Given the description of an element on the screen output the (x, y) to click on. 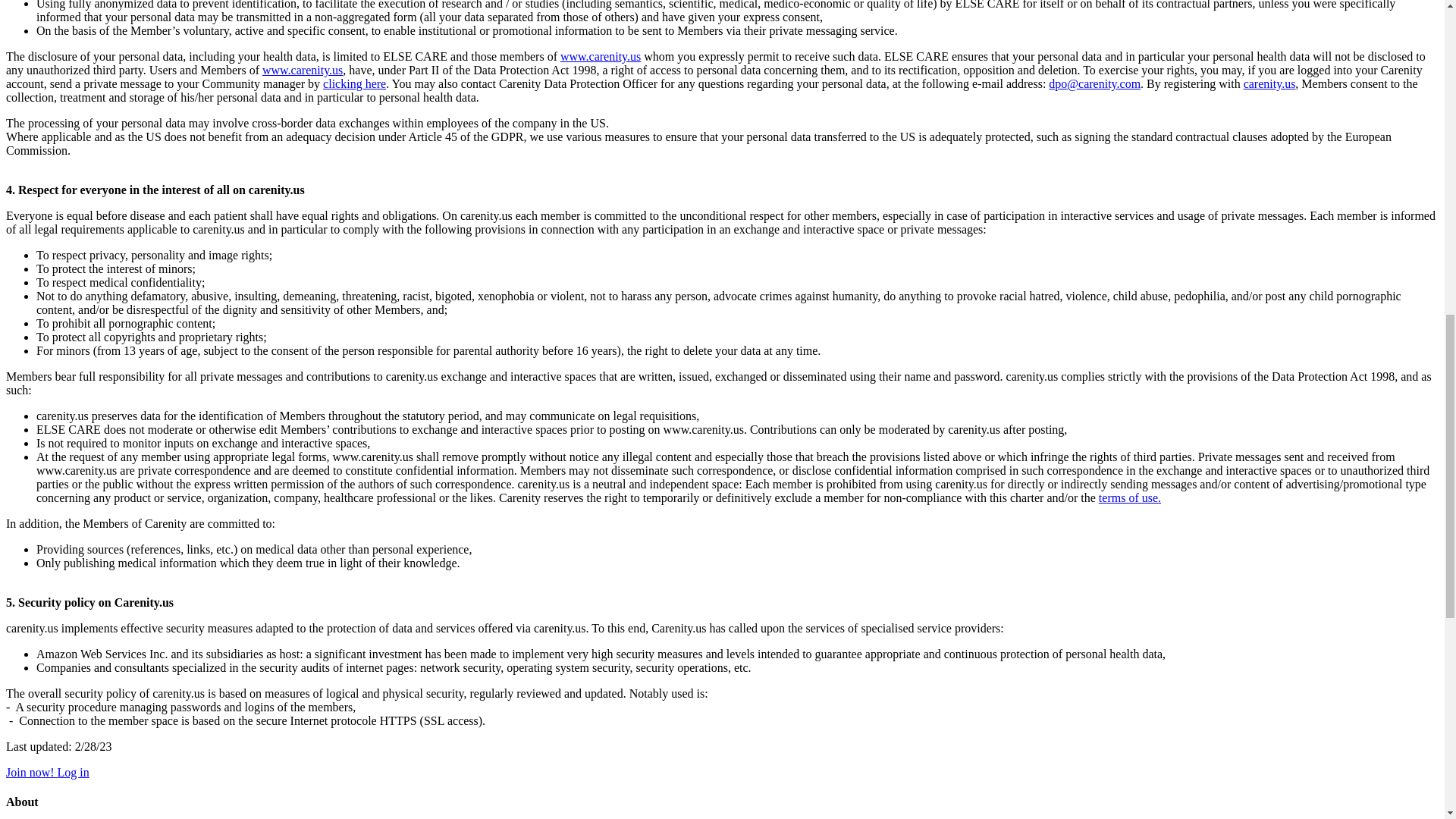
carenity.us (1269, 83)
clicking here (354, 83)
www.carenity.us (600, 56)
www.carenity.us (302, 69)
